Given the description of an element on the screen output the (x, y) to click on. 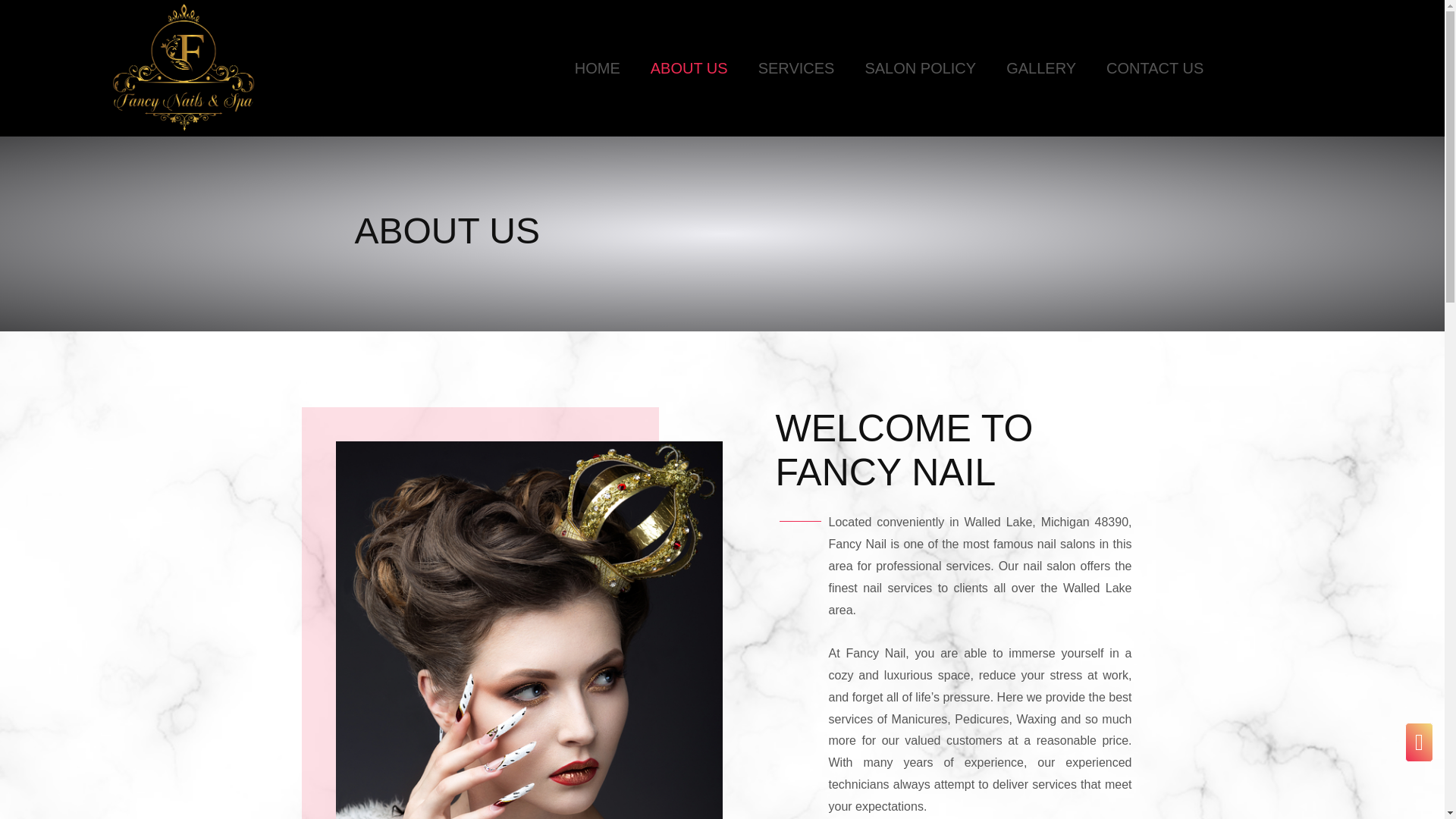
SERVICES (796, 67)
Home (597, 67)
SALON POLICY (919, 67)
HOME (597, 67)
About Us (689, 67)
CONTACT US (1155, 67)
Services (796, 67)
Services (919, 67)
Gallery (1040, 67)
Logo (183, 66)
ABOUT US (689, 67)
Contact Us (1155, 67)
GALLERY (1040, 67)
